Given the description of an element on the screen output the (x, y) to click on. 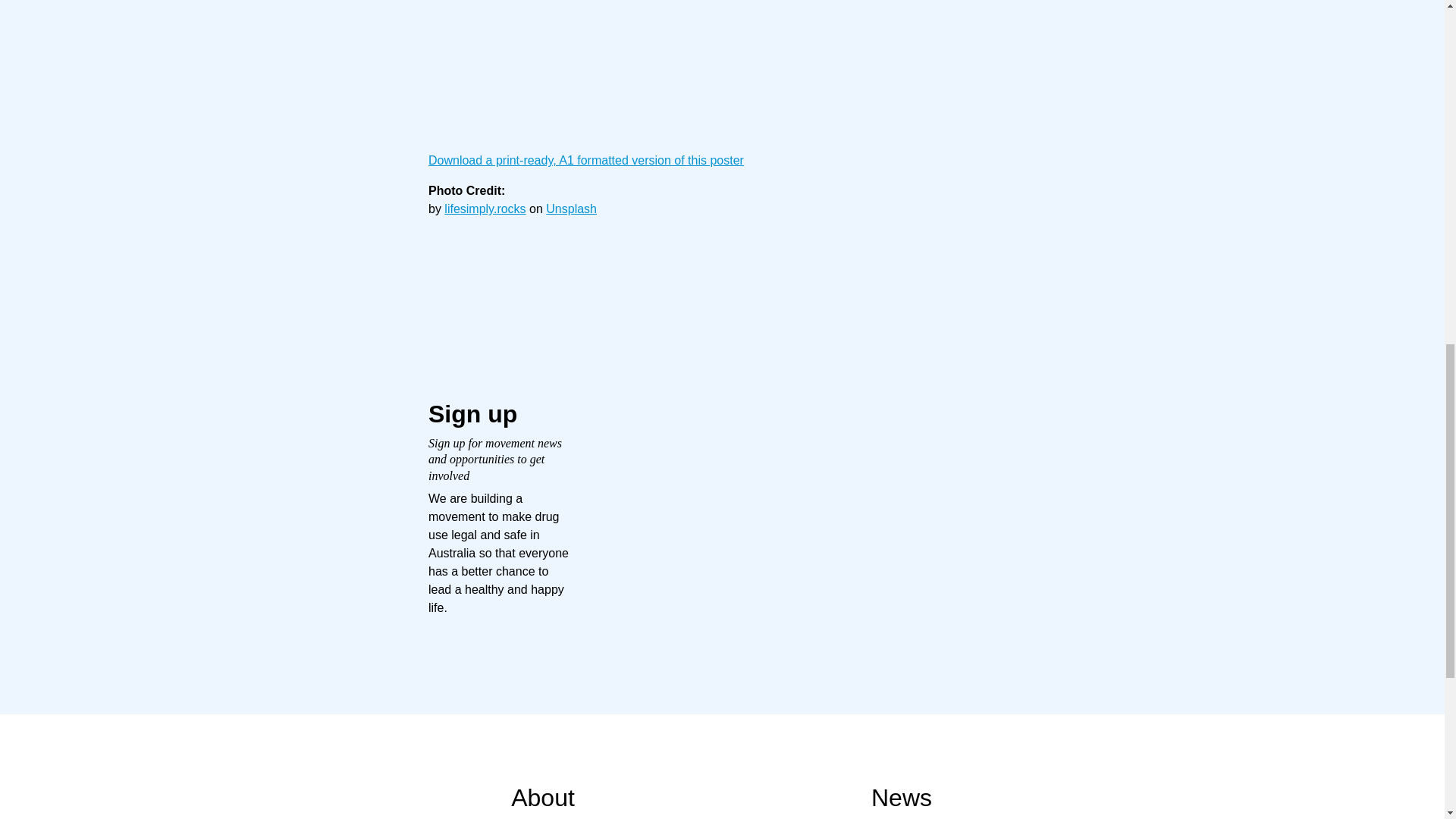
Download a print-ready, A1 formatted version of this poster (586, 160)
About (542, 796)
News (901, 796)
News (901, 796)
lifesimply.rocks (484, 208)
About (542, 796)
Unsplash (571, 208)
